Given the description of an element on the screen output the (x, y) to click on. 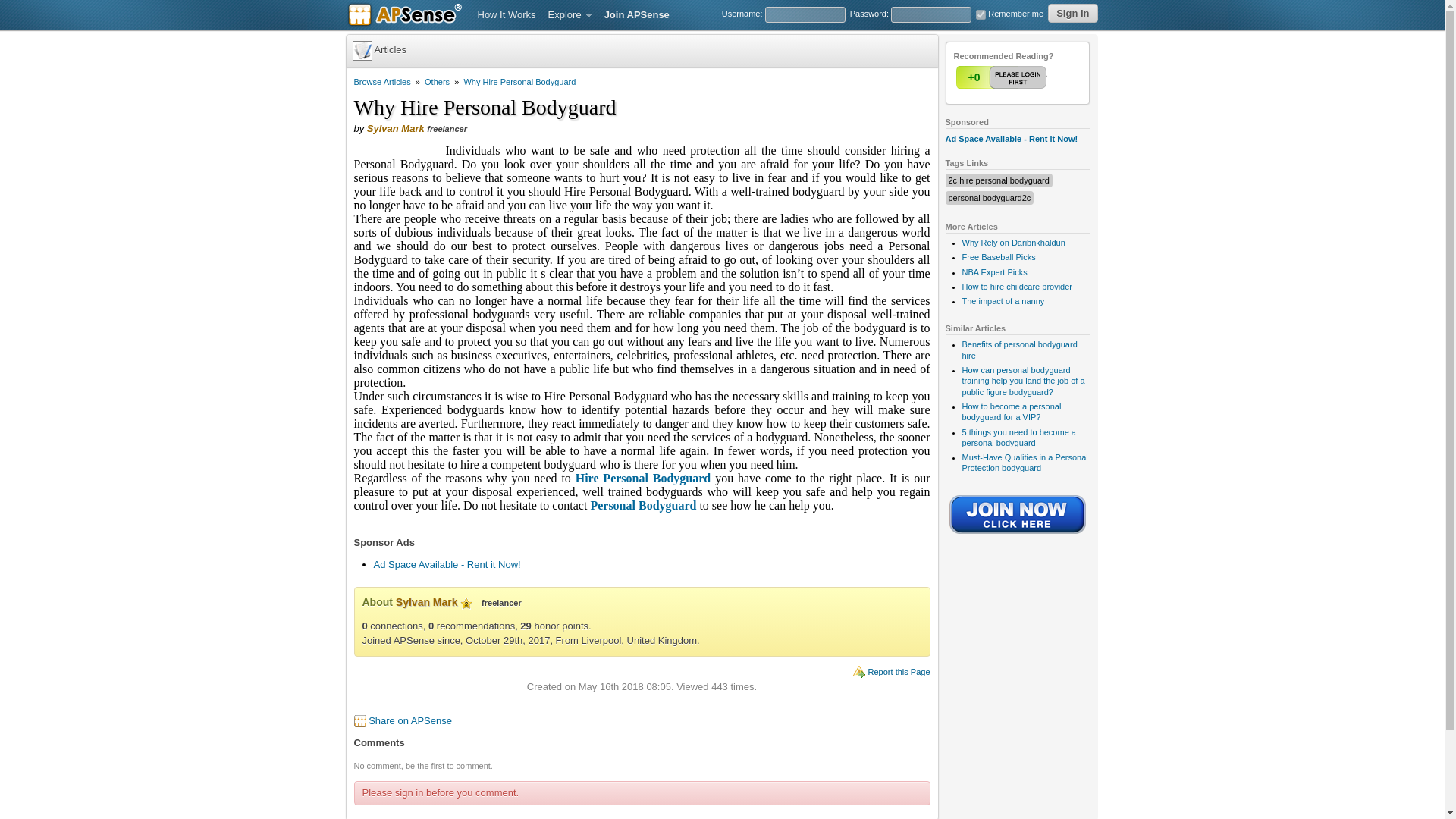
Vote Up (1002, 77)
Others (437, 81)
Join APSense Social Network (1017, 534)
Free Baseball Picks (997, 256)
Free Baseball Picks (997, 256)
Personal Bodyguard (642, 504)
How It Works (506, 15)
-1 (1031, 77)
How to become a personal bodyguard for a VIP? (1010, 411)
Vote Down (1031, 77)
Ad Space Available - Rent it Now! (1010, 138)
NBA Expert Picks (993, 271)
Explore (569, 15)
Why Rely on Daribnkhaldun (1012, 242)
NBA Expert Picks (993, 271)
